Given the description of an element on the screen output the (x, y) to click on. 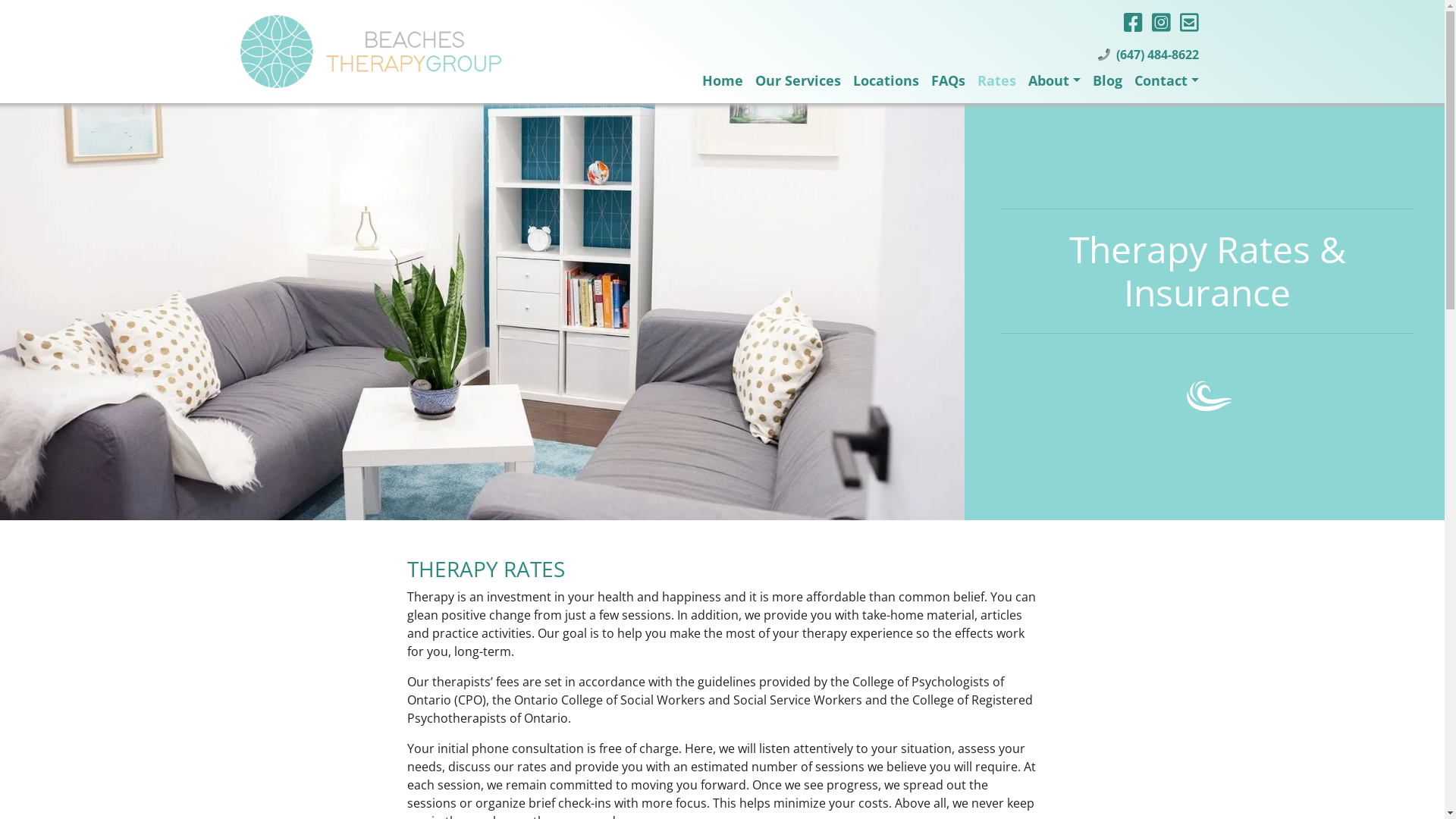
Contact Element type: text (1166, 80)
instagram Element type: text (1160, 21)
Home Element type: text (722, 80)
Locations Element type: text (886, 80)
email Element type: text (1188, 21)
(647) 484-8622 Element type: text (1157, 54)
FAQs Element type: text (948, 80)
Blog Element type: text (1107, 80)
Rates Element type: text (996, 80)
facebook Element type: text (1132, 21)
About Element type: text (1054, 80)
Our Services Element type: text (798, 80)
